Given the description of an element on the screen output the (x, y) to click on. 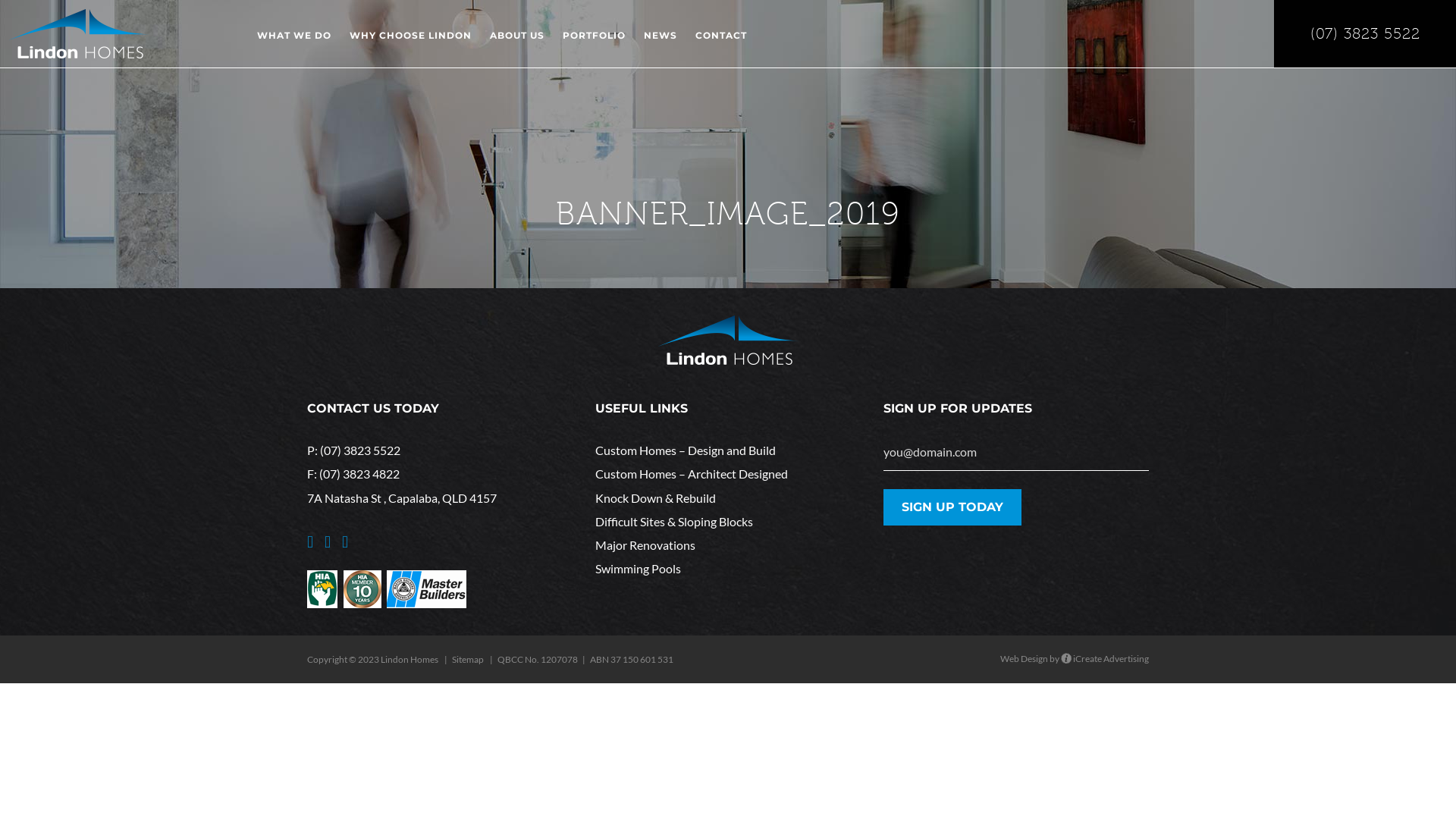
Lindon Homes Element type: text (79, 33)
(07) 3823 5522 Element type: text (360, 449)
WHAT WE DO Element type: text (293, 44)
Difficult Sites & Sloping Blocks Element type: text (727, 521)
Sitemap Element type: text (467, 659)
CONTACT Element type: text (721, 44)
WHY CHOOSE LINDON Element type: text (410, 44)
Skip to primary navigation Element type: text (0, 0)
Knock Down & Rebuild Element type: text (727, 497)
iCreate Advertising Element type: text (1104, 658)
NEWS Element type: text (660, 44)
PORTFOLIO Element type: text (593, 44)
Major Renovations Element type: text (727, 544)
SIGN UP TODAY Element type: text (952, 507)
Swimming Pools Element type: text (727, 568)
ABOUT US Element type: text (516, 44)
